Given the description of an element on the screen output the (x, y) to click on. 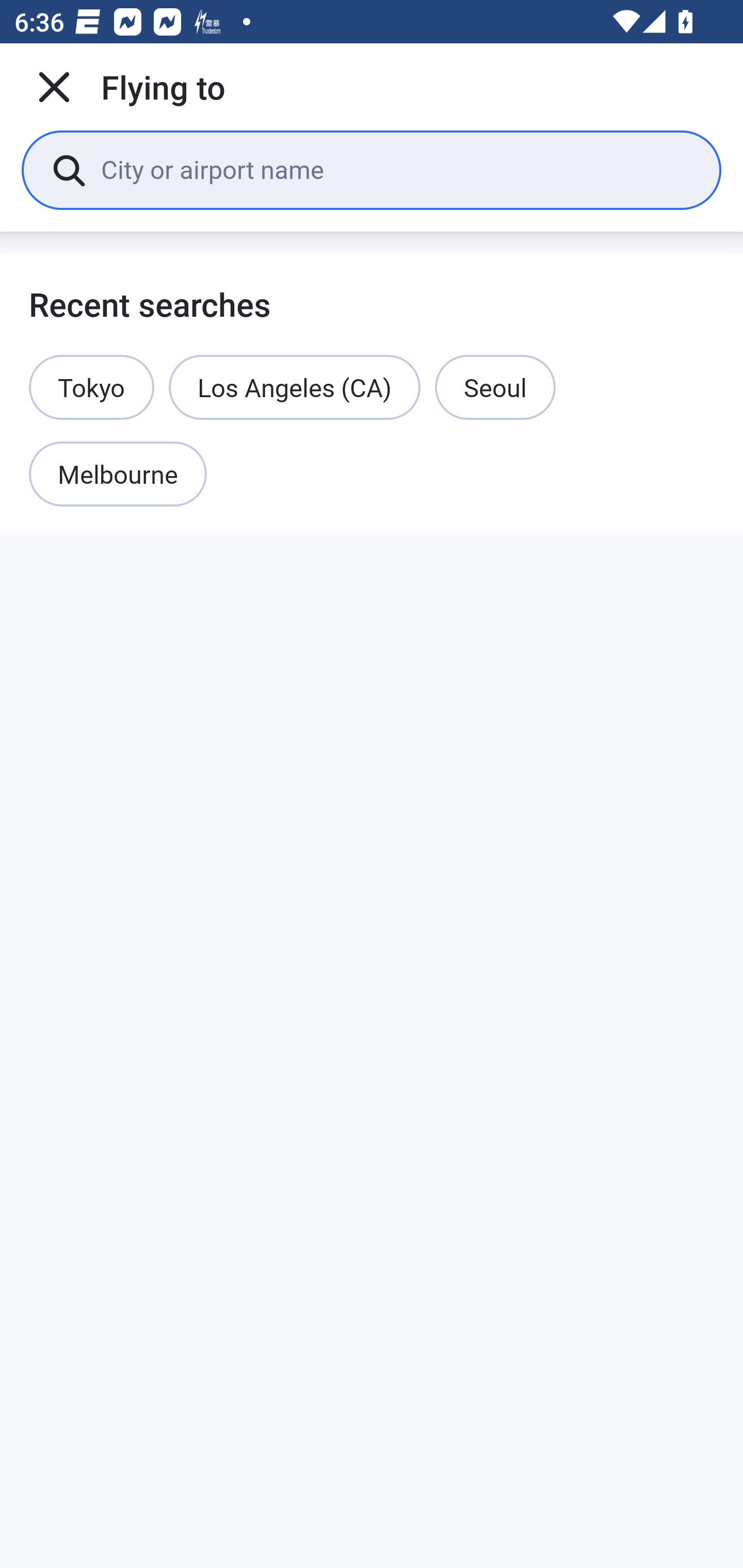
City or airport name (396, 169)
Tokyo (91, 387)
Los Angeles (CA) (294, 387)
Seoul (494, 387)
Melbourne (117, 474)
